Given the description of an element on the screen output the (x, y) to click on. 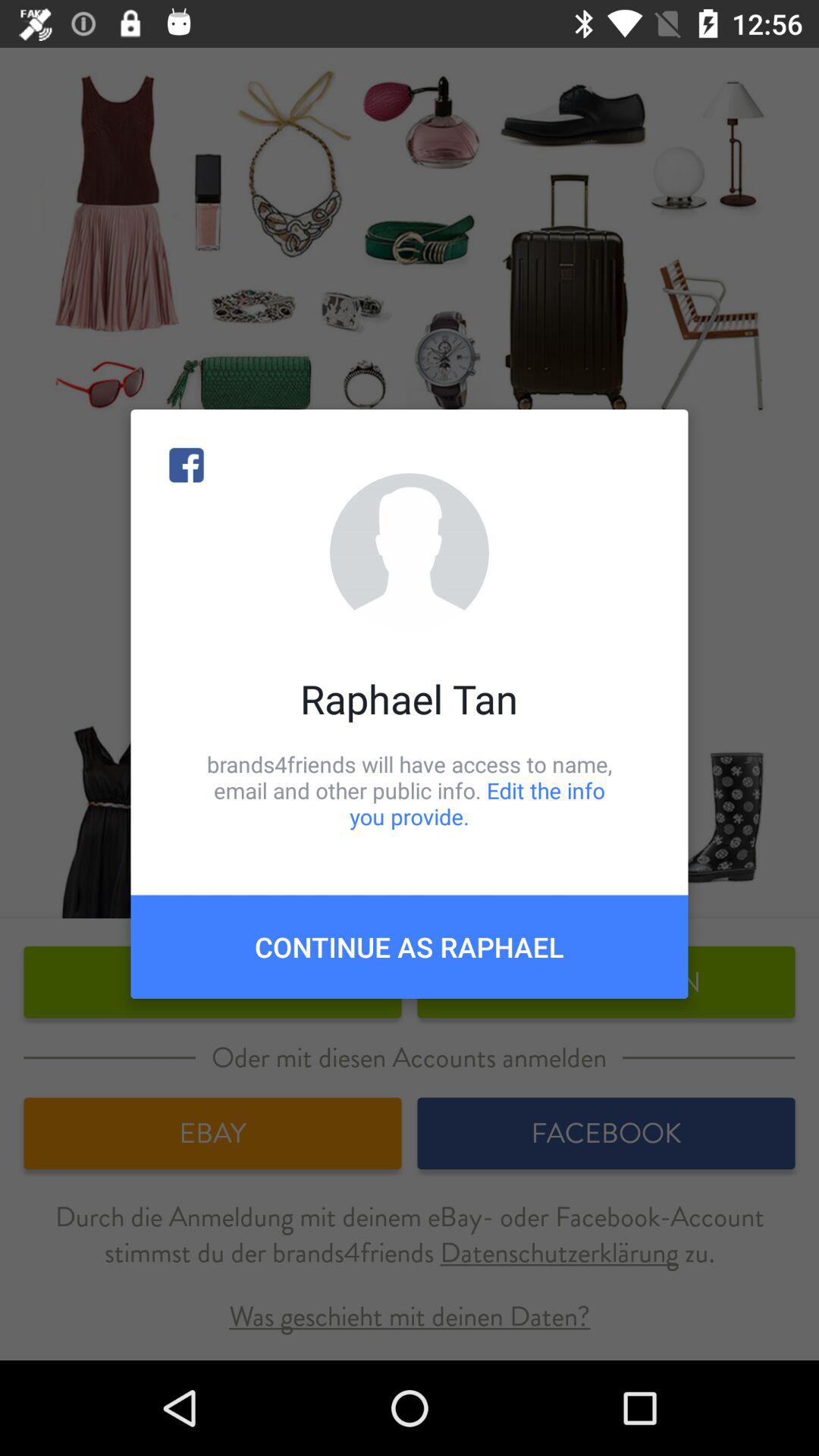
launch the icon above the continue as raphael item (409, 790)
